Given the description of an element on the screen output the (x, y) to click on. 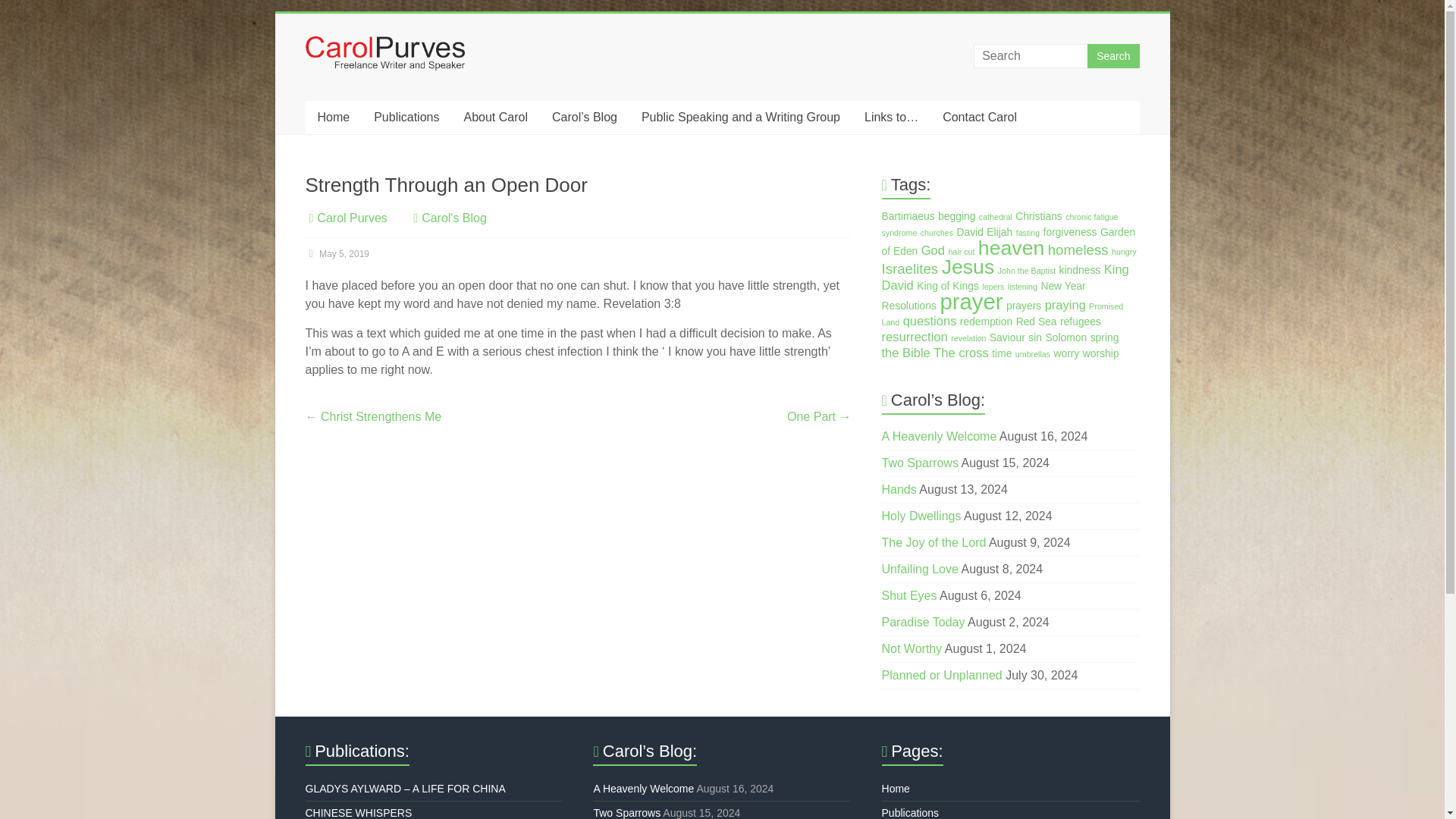
About Carol (495, 117)
8:04 am (336, 253)
May 5, 2019 (336, 253)
churches (936, 232)
John the Baptist (1026, 270)
forgiveness (1070, 232)
Israelites (910, 268)
Carol's Blog (454, 217)
lepers (992, 286)
heaven (1010, 247)
